Given the description of an element on the screen output the (x, y) to click on. 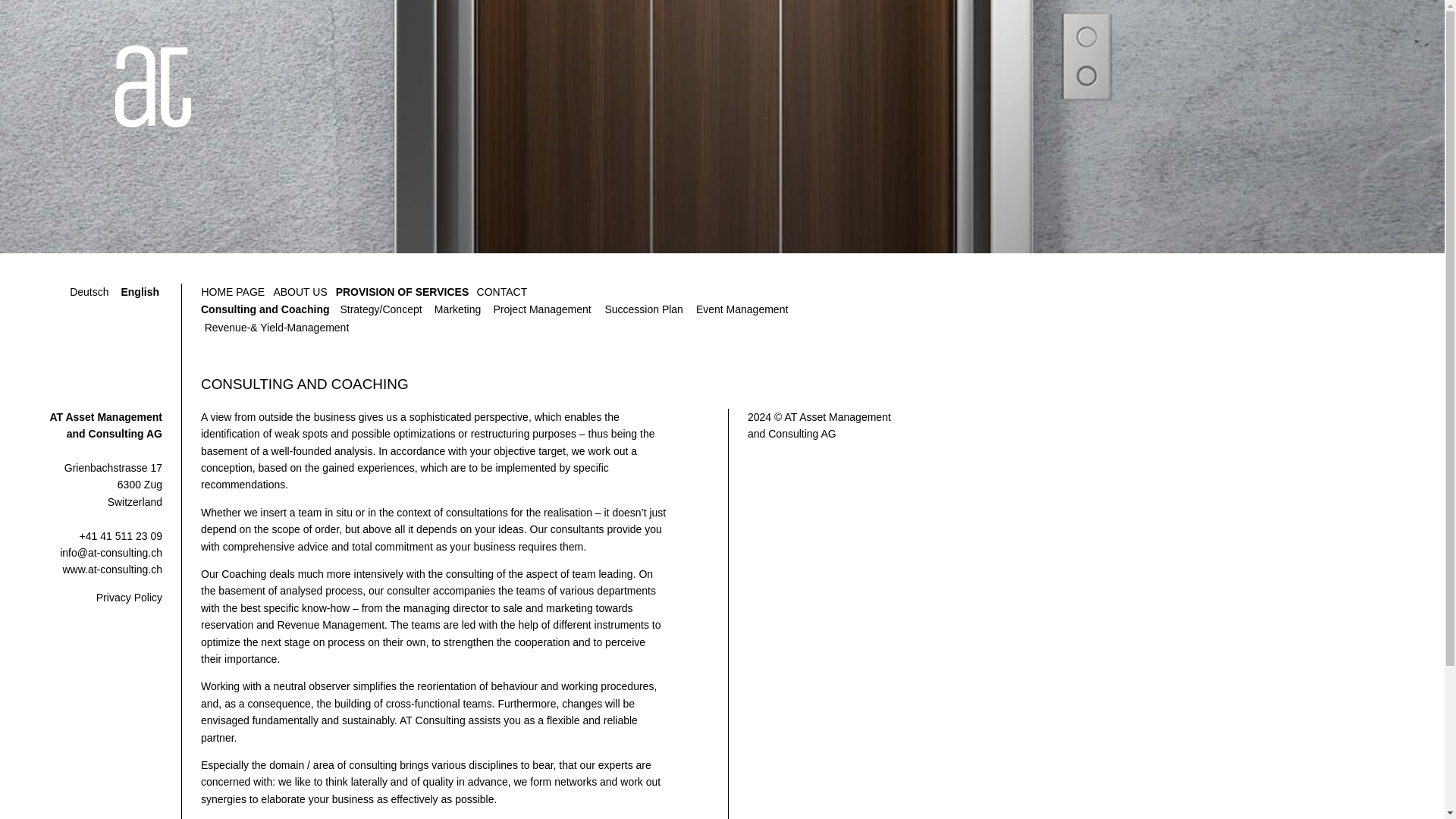
Project Management (542, 309)
Marketing (456, 309)
Deutsch (89, 292)
About us (301, 292)
Consulting and Coaching (265, 309)
Home Page (232, 292)
Succession Plan (643, 309)
PROVISION OF SERVICES (402, 292)
Contact (501, 292)
Privacy Policy (128, 597)
Marketing (456, 309)
Project Management (542, 309)
www.at-consulting.ch (111, 569)
